Given the description of an element on the screen output the (x, y) to click on. 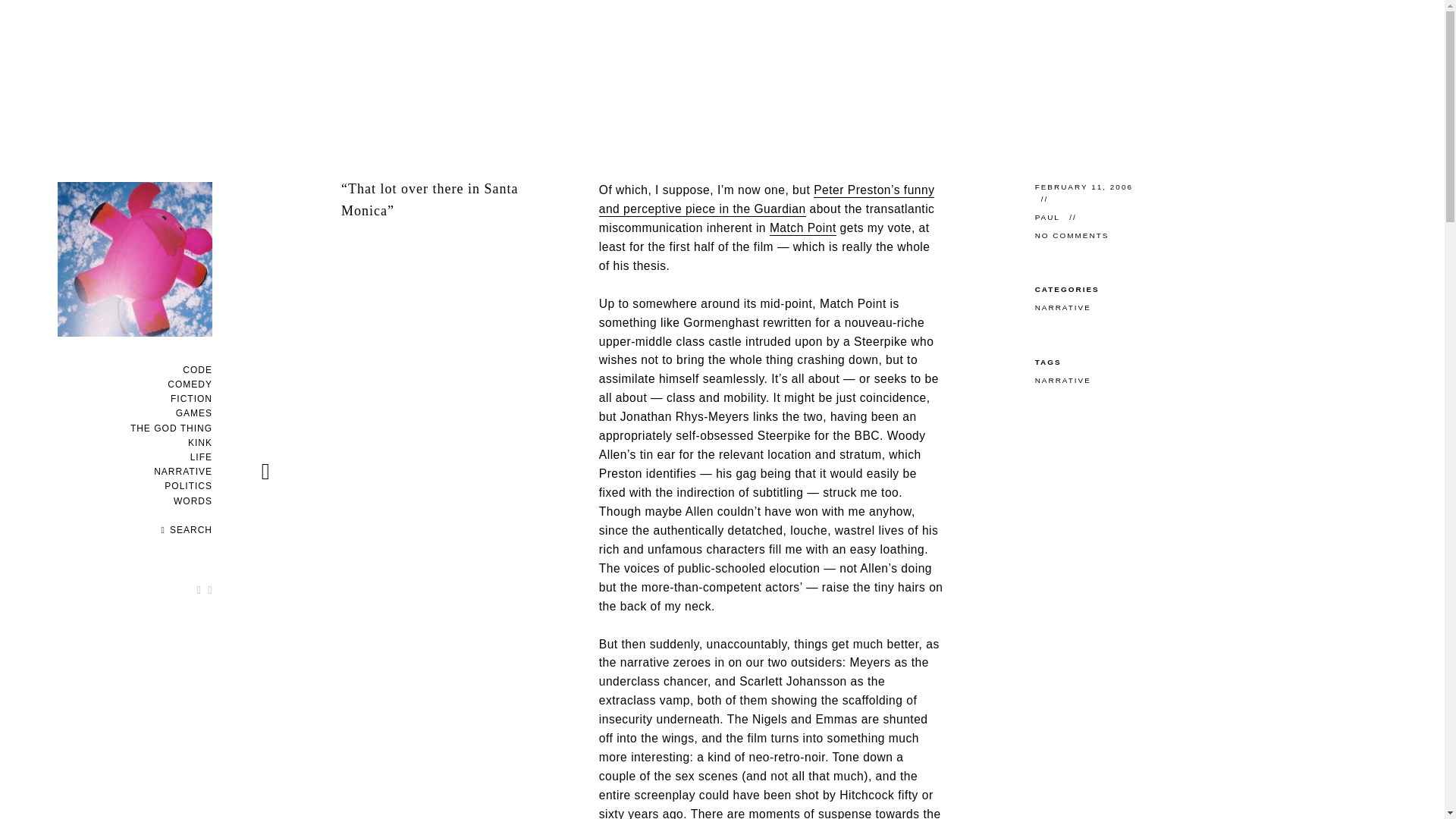
COMEDY (189, 384)
Match Point (802, 228)
PAUL (1049, 216)
SEARCH (186, 529)
NARRATIVE (1062, 307)
NO COMMENTS (1072, 234)
NARRATIVE (1062, 379)
THE GOD THING (171, 428)
KINK (199, 442)
FICTION (191, 398)
